Given the description of an element on the screen output the (x, y) to click on. 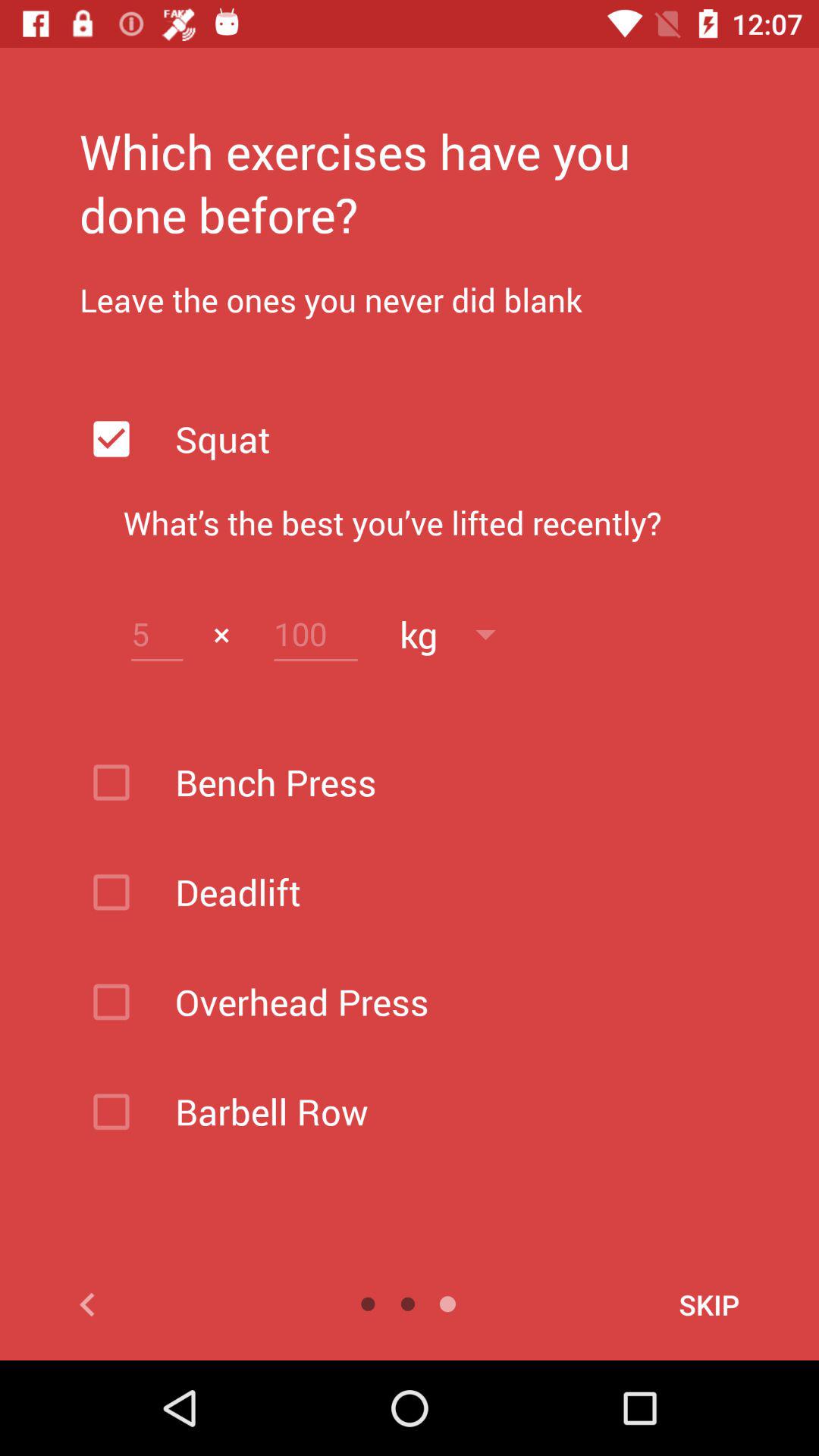
enter number (157, 634)
